Given the description of an element on the screen output the (x, y) to click on. 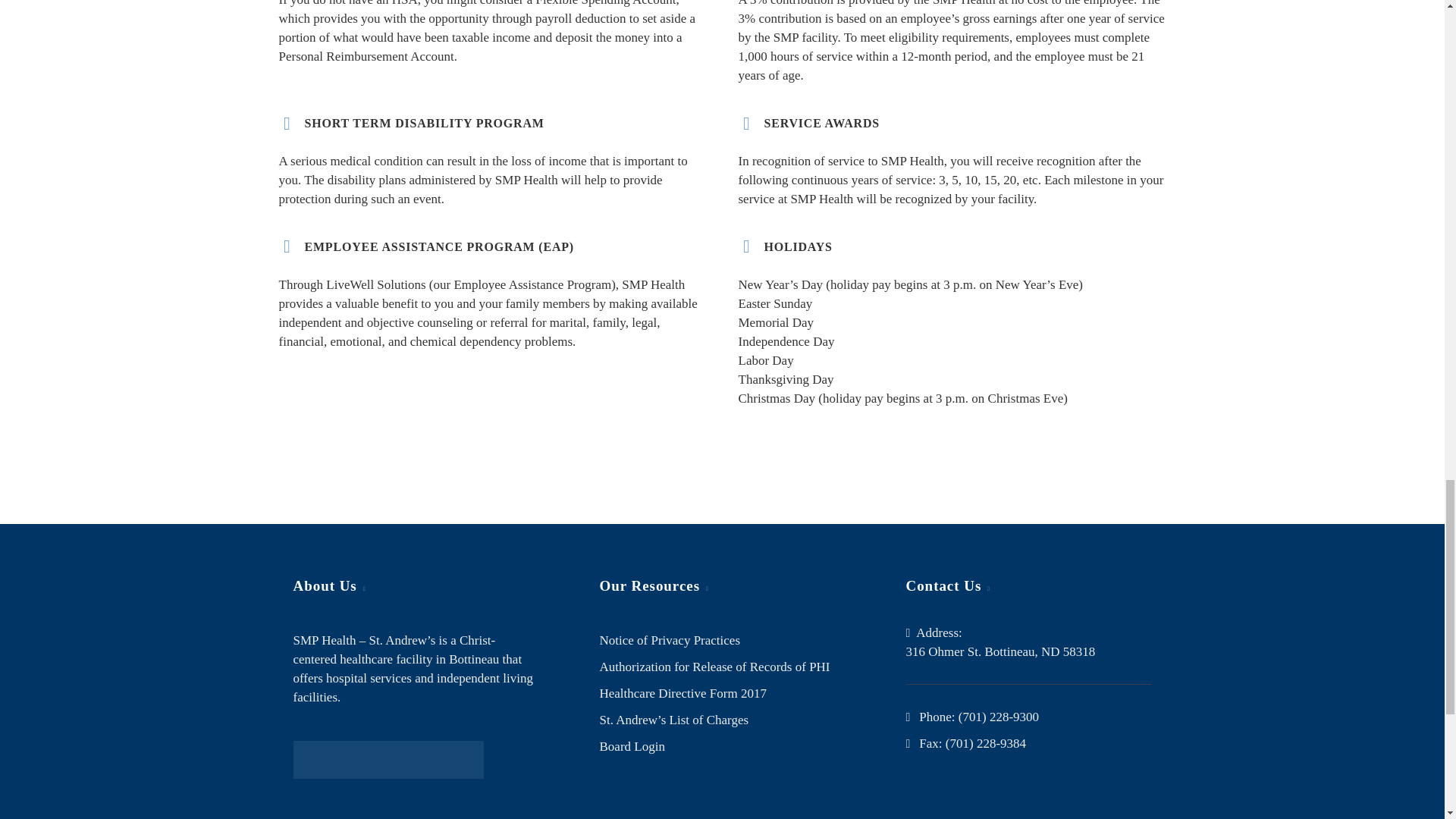
Authorization for Release of Records of PHI (713, 667)
Healthcare Directive Form 2017 (681, 693)
Notice of Privacy Practices (668, 640)
